Given the description of an element on the screen output the (x, y) to click on. 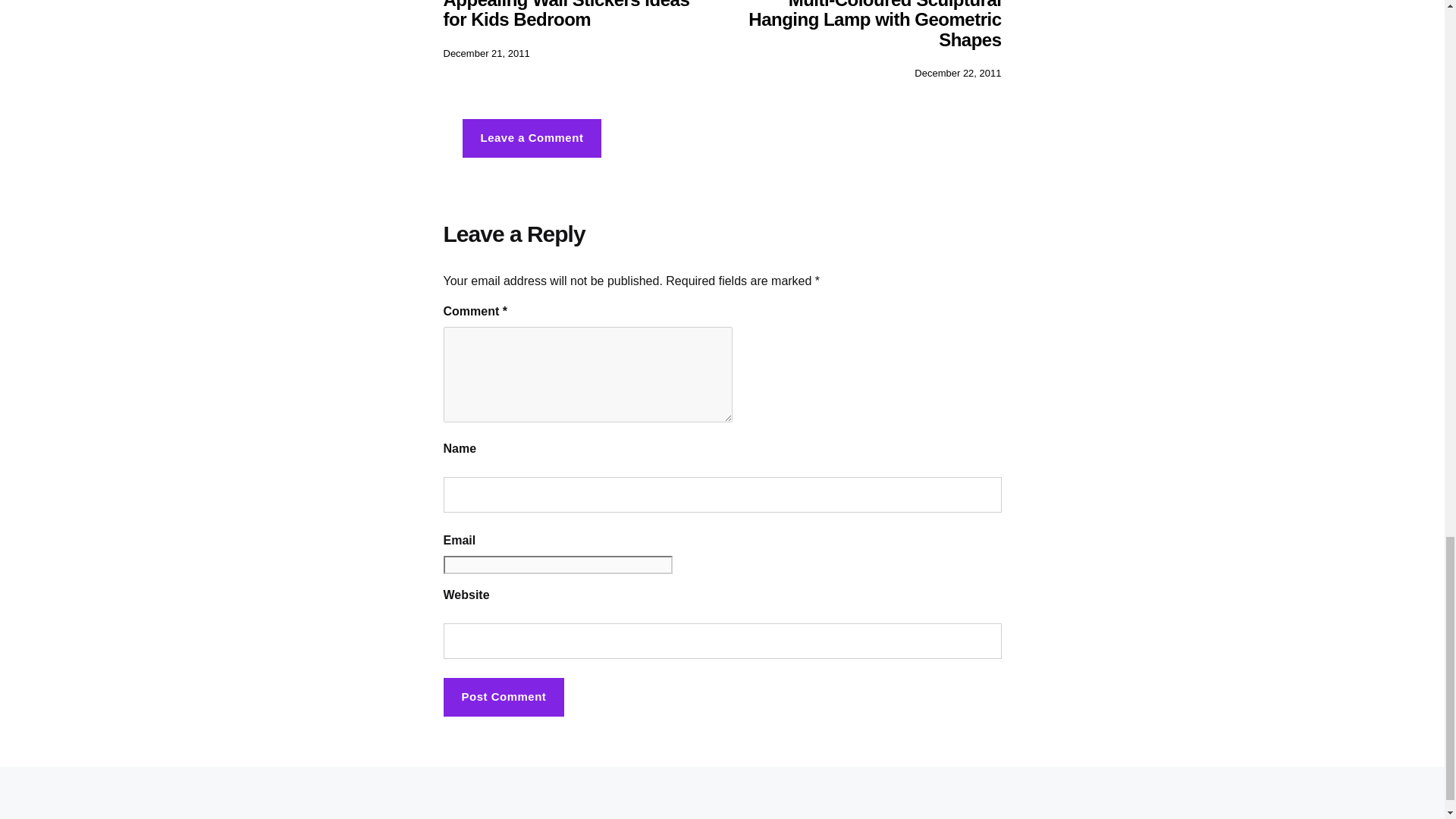
Post Comment (503, 697)
Multi-Coloured Sculptural Hanging Lamp with Geometric Shapes (874, 24)
Appealing Wall Stickers Ideas for Kids Bedroom (565, 14)
Post Comment (503, 697)
